Given the description of an element on the screen output the (x, y) to click on. 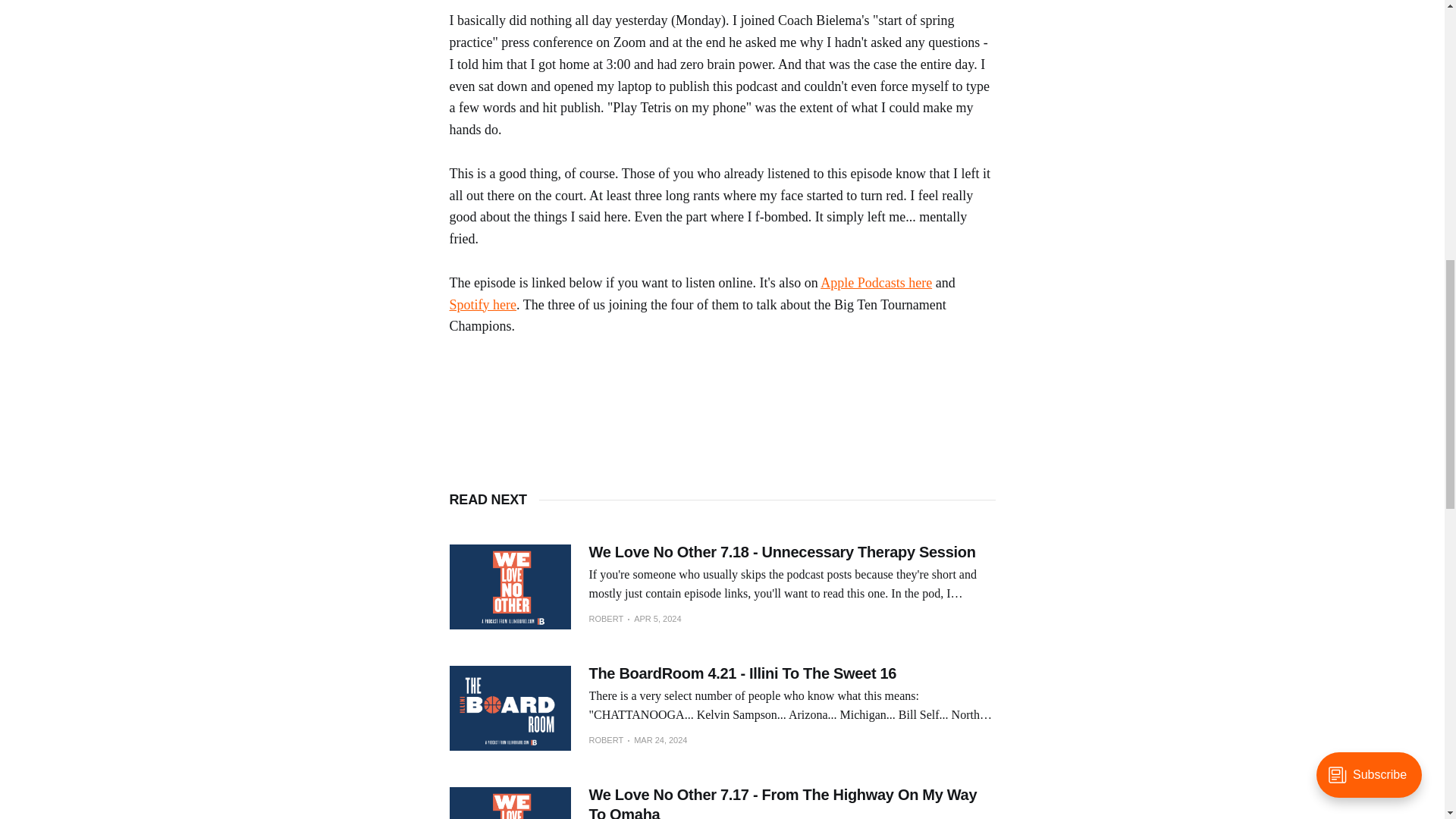
Audioboom player (721, 395)
Apple Podcasts here (876, 282)
Spotify here (481, 304)
